Given the description of an element on the screen output the (x, y) to click on. 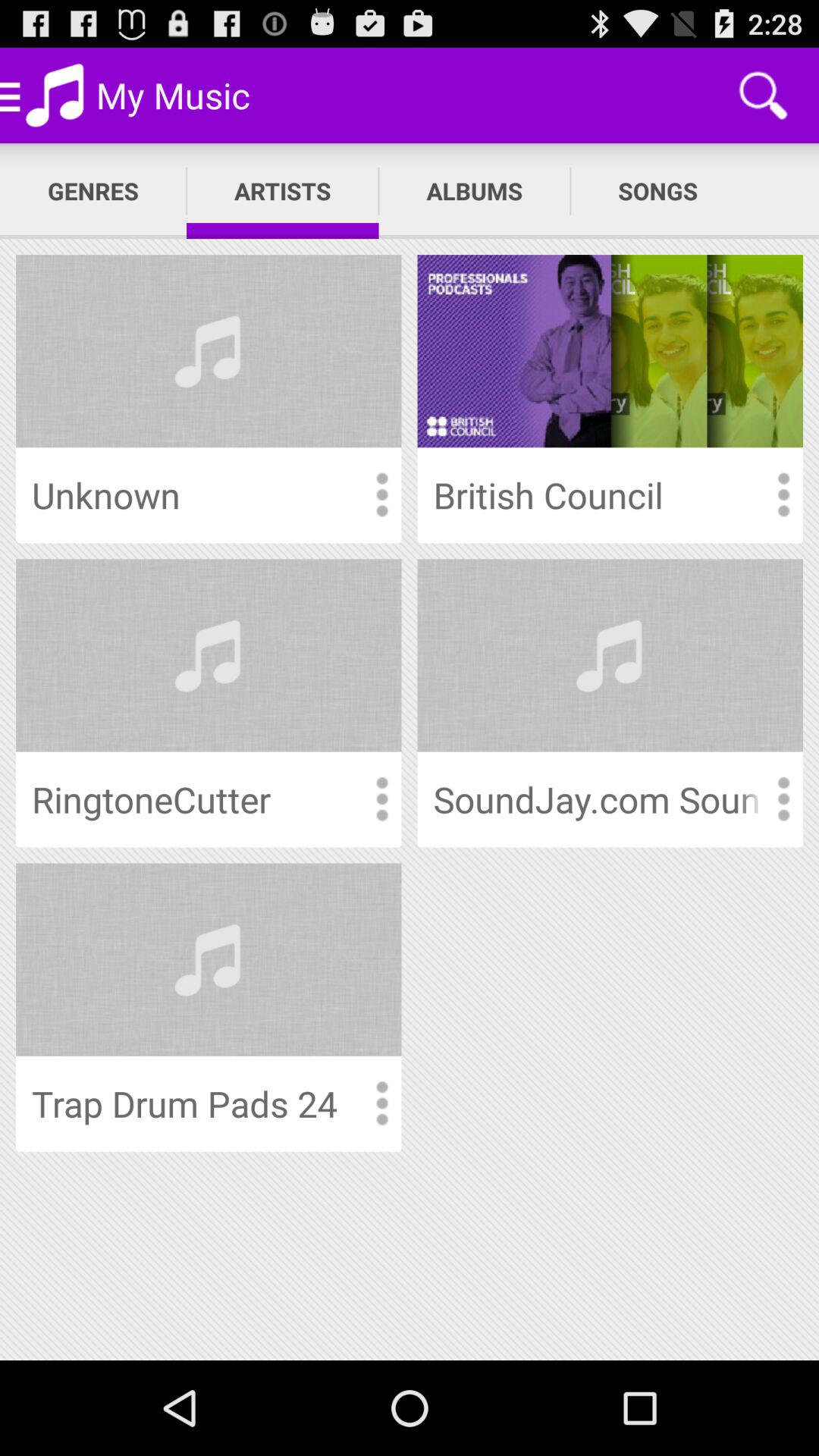
turn on the item to the left of albums icon (282, 190)
